Given the description of an element on the screen output the (x, y) to click on. 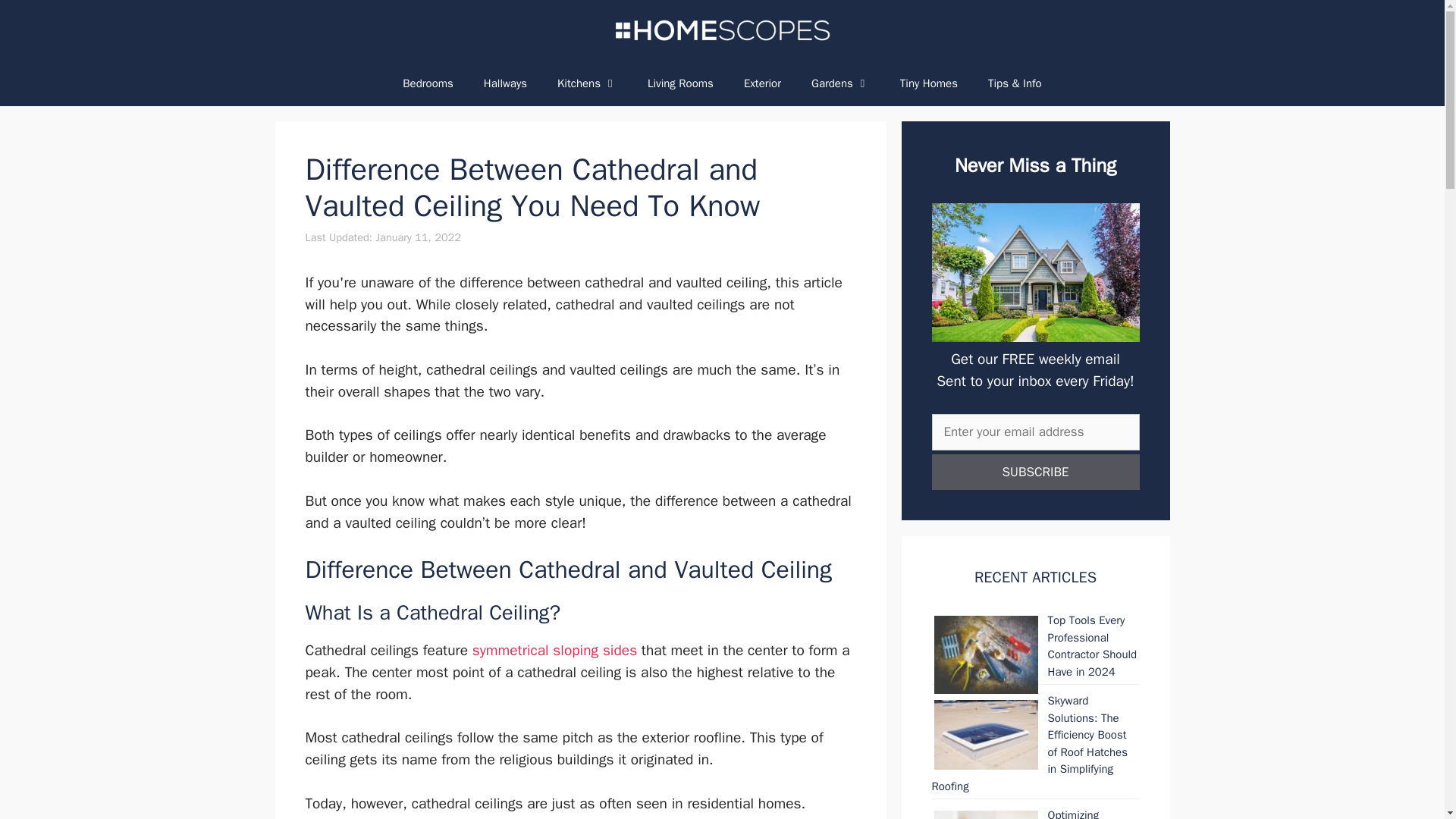
Bedrooms (427, 83)
Gardens (840, 83)
symmetrical sloping sides (554, 650)
Subscribe (1034, 472)
Living Rooms (680, 83)
Subscribe (1034, 472)
Hallways (504, 83)
Tiny Homes (928, 83)
Exterior (762, 83)
